Given the description of an element on the screen output the (x, y) to click on. 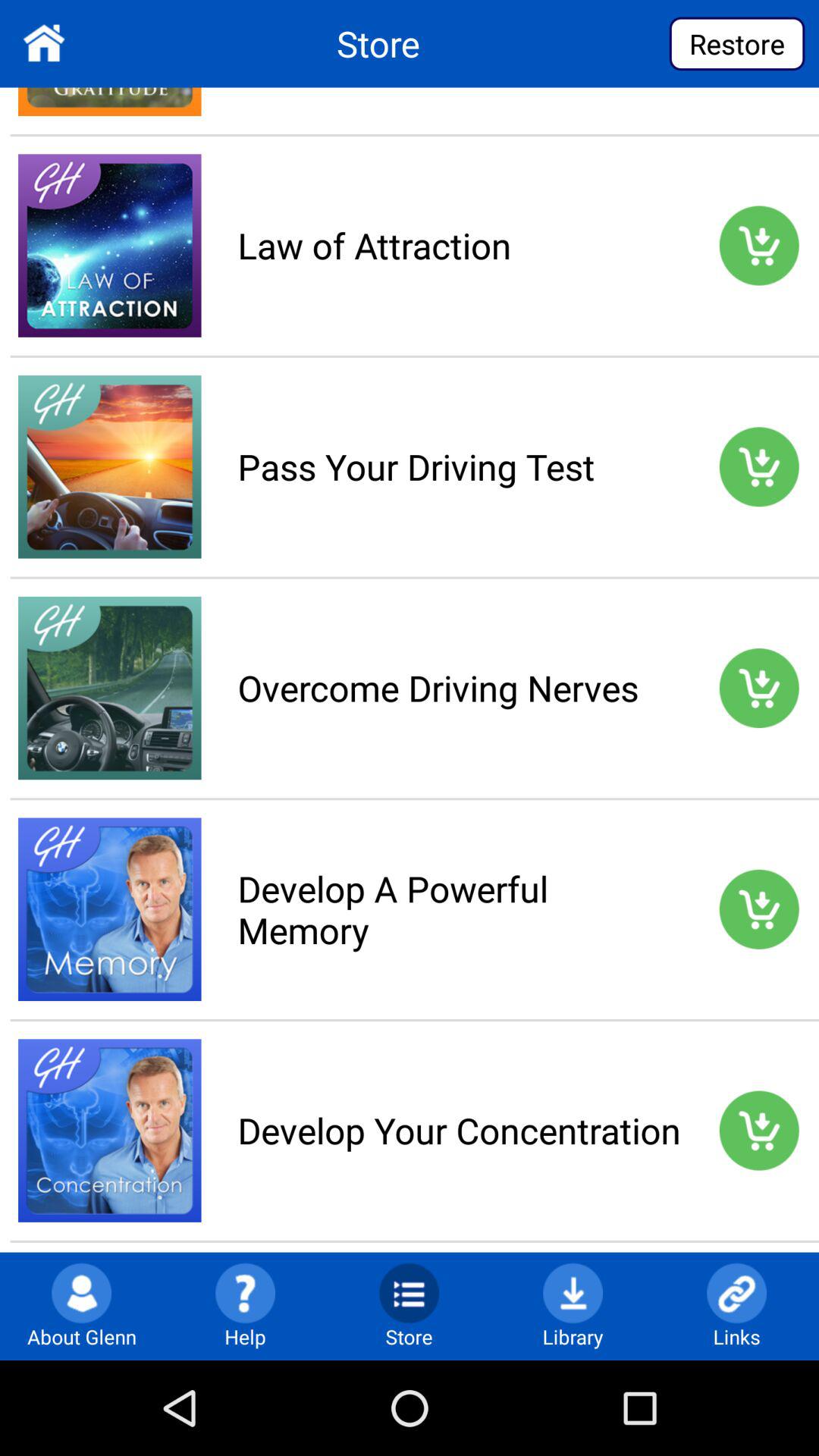
tap overcome driving nerves (459, 687)
